Given the description of an element on the screen output the (x, y) to click on. 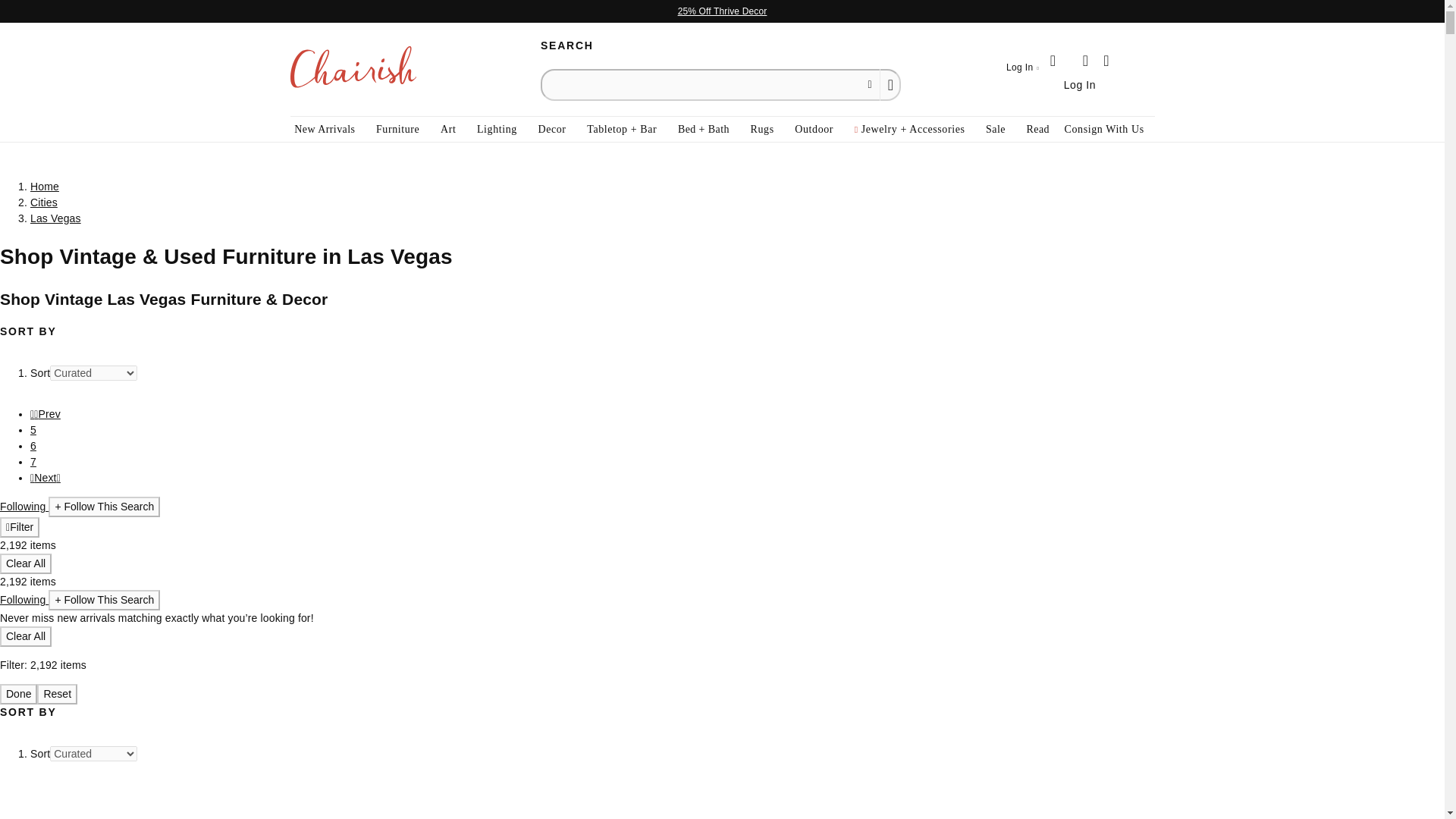
Furniture (397, 129)
New Arrivals (324, 129)
Log In (1080, 83)
Previous Page (45, 413)
Log In (1022, 69)
Next Page (45, 477)
Chairish - For Chic And Unique Homes (351, 68)
